Given the description of an element on the screen output the (x, y) to click on. 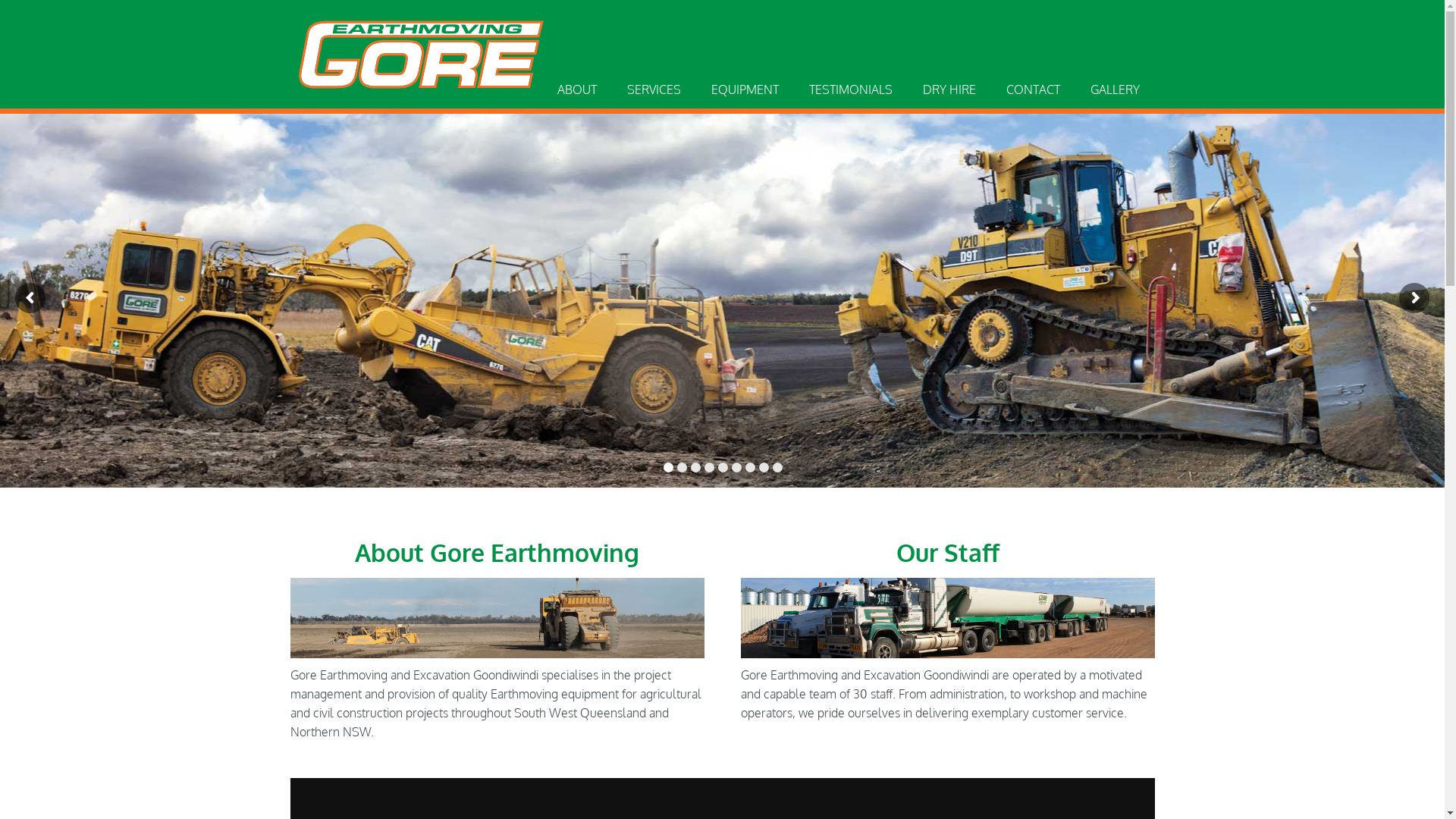
TESTIMONIALS Element type: text (849, 89)
DRY HIRE Element type: text (948, 89)
EQUIPMENT Element type: text (744, 89)
CONTACT Element type: text (1032, 89)
ABOUT Element type: text (576, 89)
GALLERY Element type: text (1114, 89)
SERVICES Element type: text (653, 89)
